Given the description of an element on the screen output the (x, y) to click on. 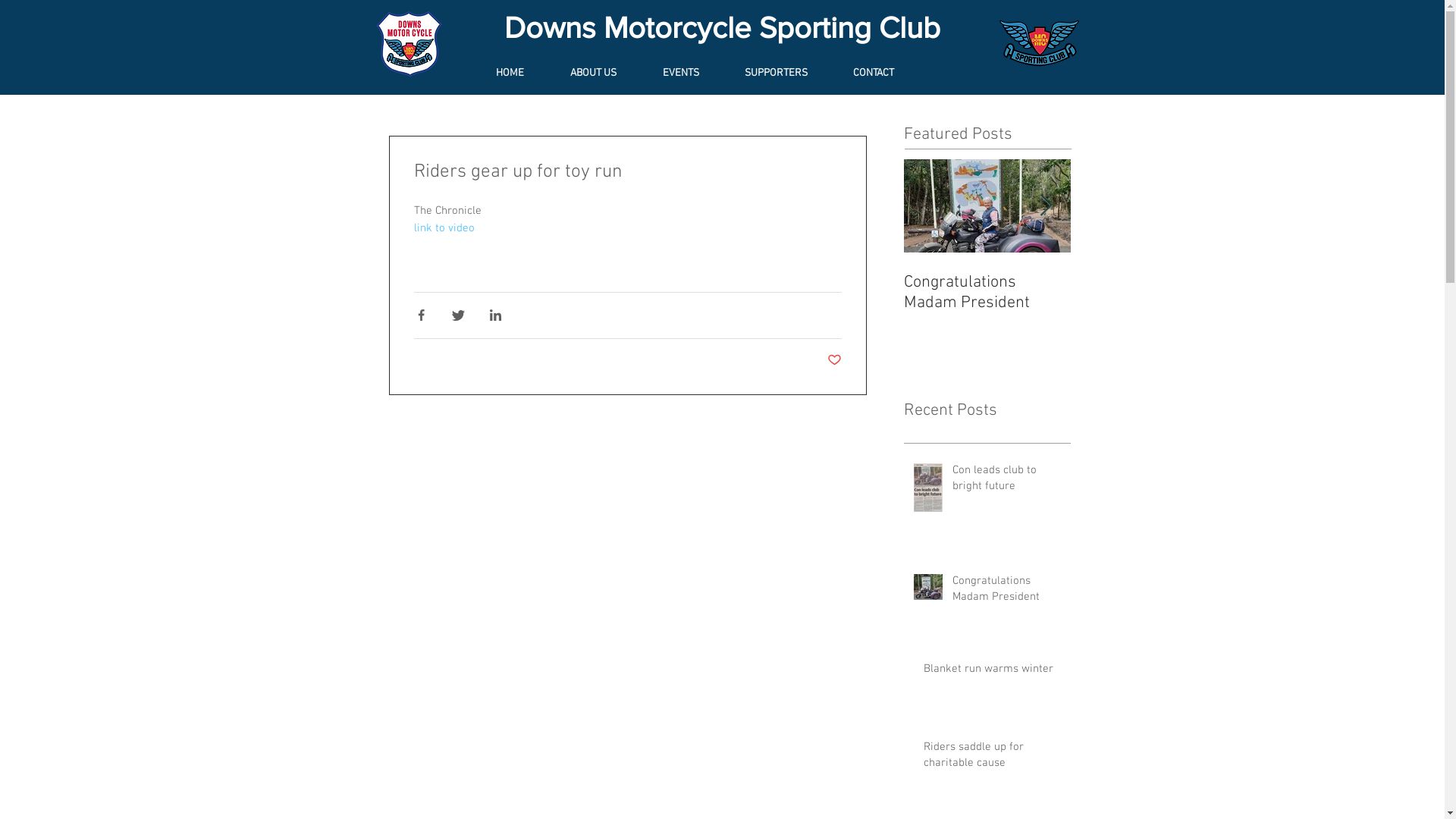
Inaugural Gentleman's Ride for a good cause Element type: text (1153, 292)
Riders saddle up for charitable cause Element type: text (992, 758)
Congratulations Madam President Element type: text (986, 292)
Blanket run warms winter Element type: text (992, 672)
Darling Downs bikers warm to annual Blanket Run Element type: text (1320, 302)
Post not marked as liked Element type: text (833, 360)
link to video Element type: text (444, 228)
HOME Element type: text (523, 73)
Con leads club to bright future Element type: text (1006, 481)
SUPPORTERS Element type: text (789, 73)
Congratulations Madam President Element type: text (1006, 592)
CONTACT Element type: text (887, 73)
ABOUT US Element type: text (607, 73)
